Given the description of an element on the screen output the (x, y) to click on. 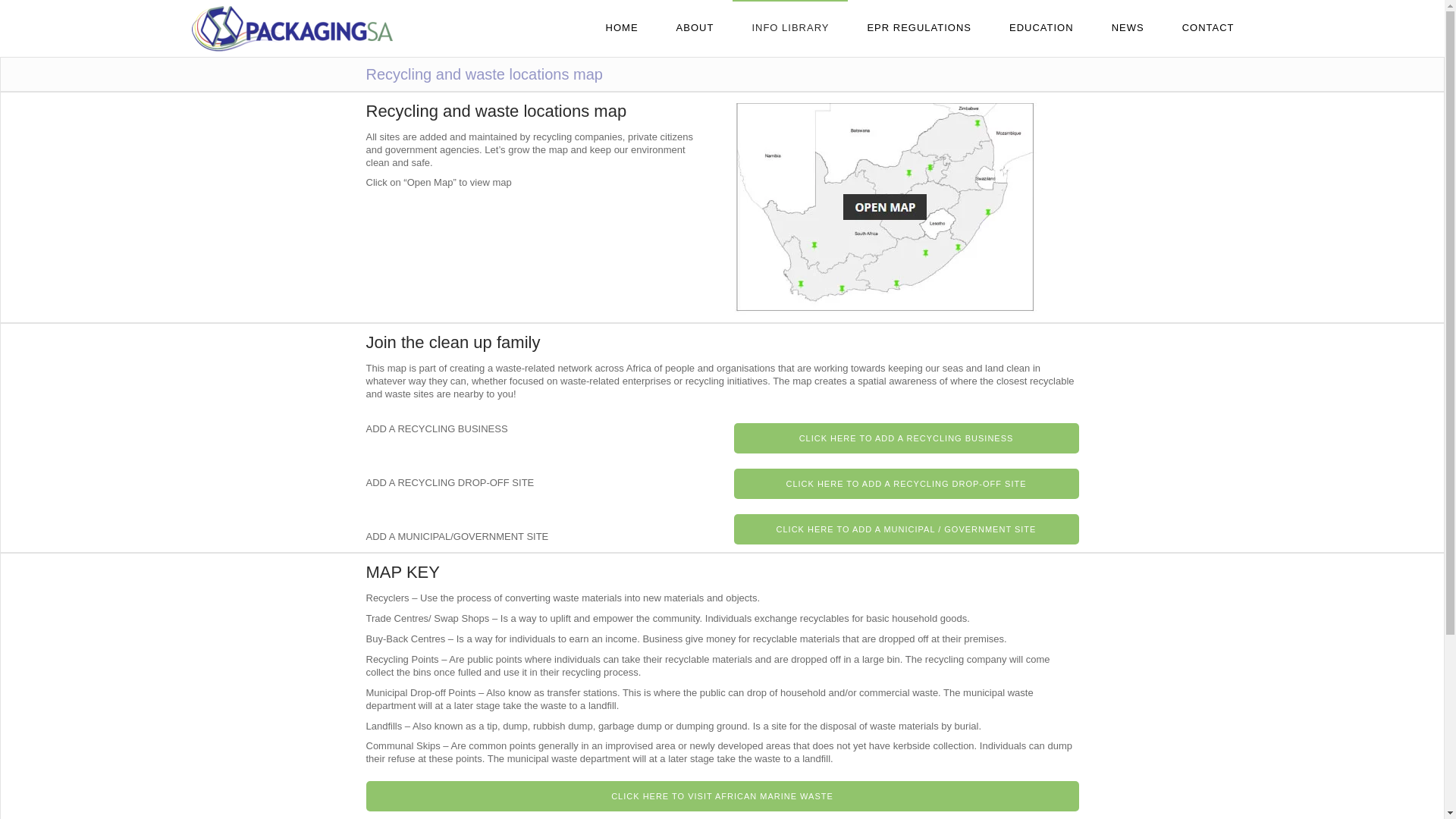
HOME (622, 28)
ABOUT (695, 28)
INFO LIBRARY (789, 28)
